Given the description of an element on the screen output the (x, y) to click on. 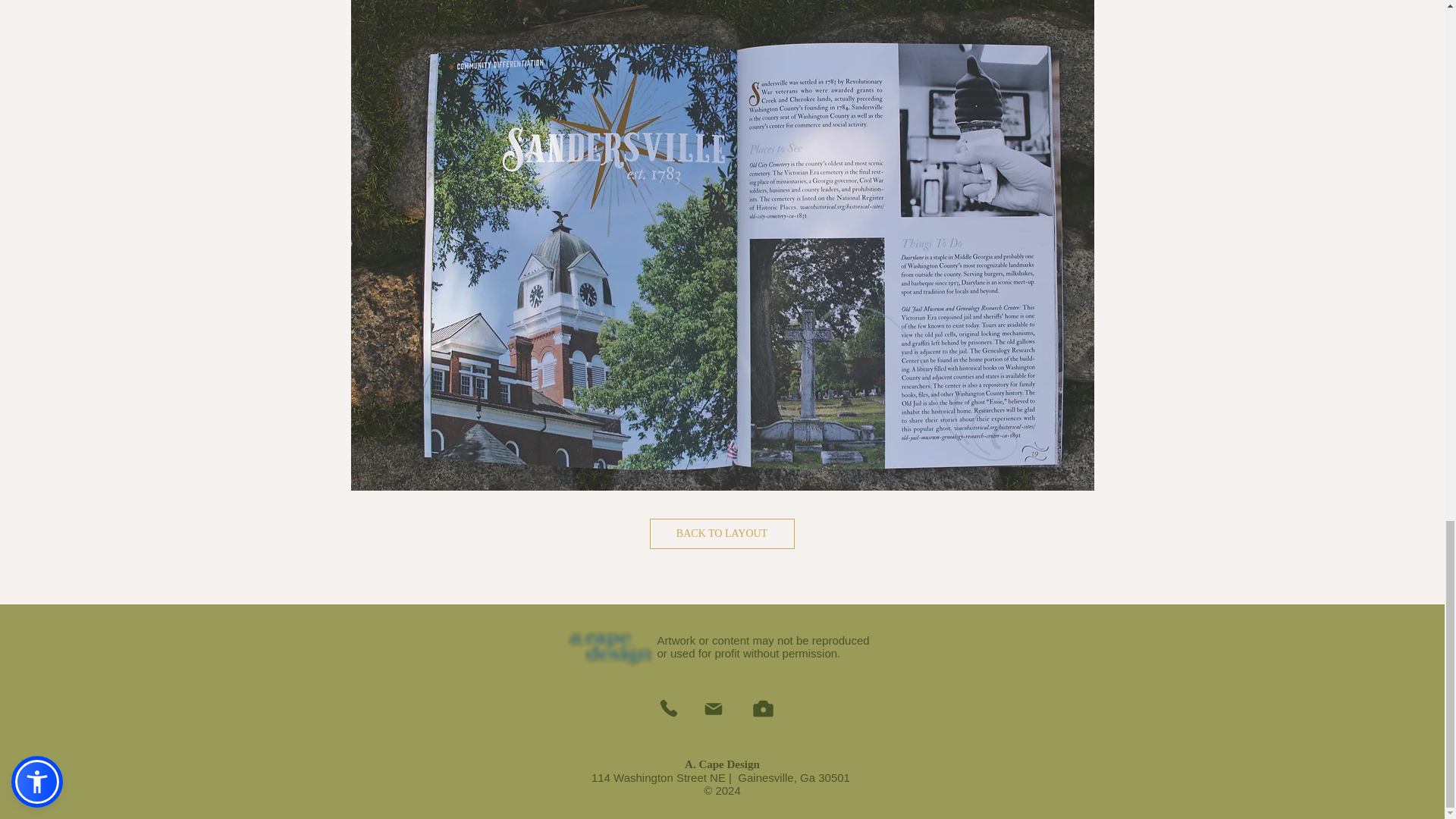
BACK TO LAYOUT (721, 533)
